Given the description of an element on the screen output the (x, y) to click on. 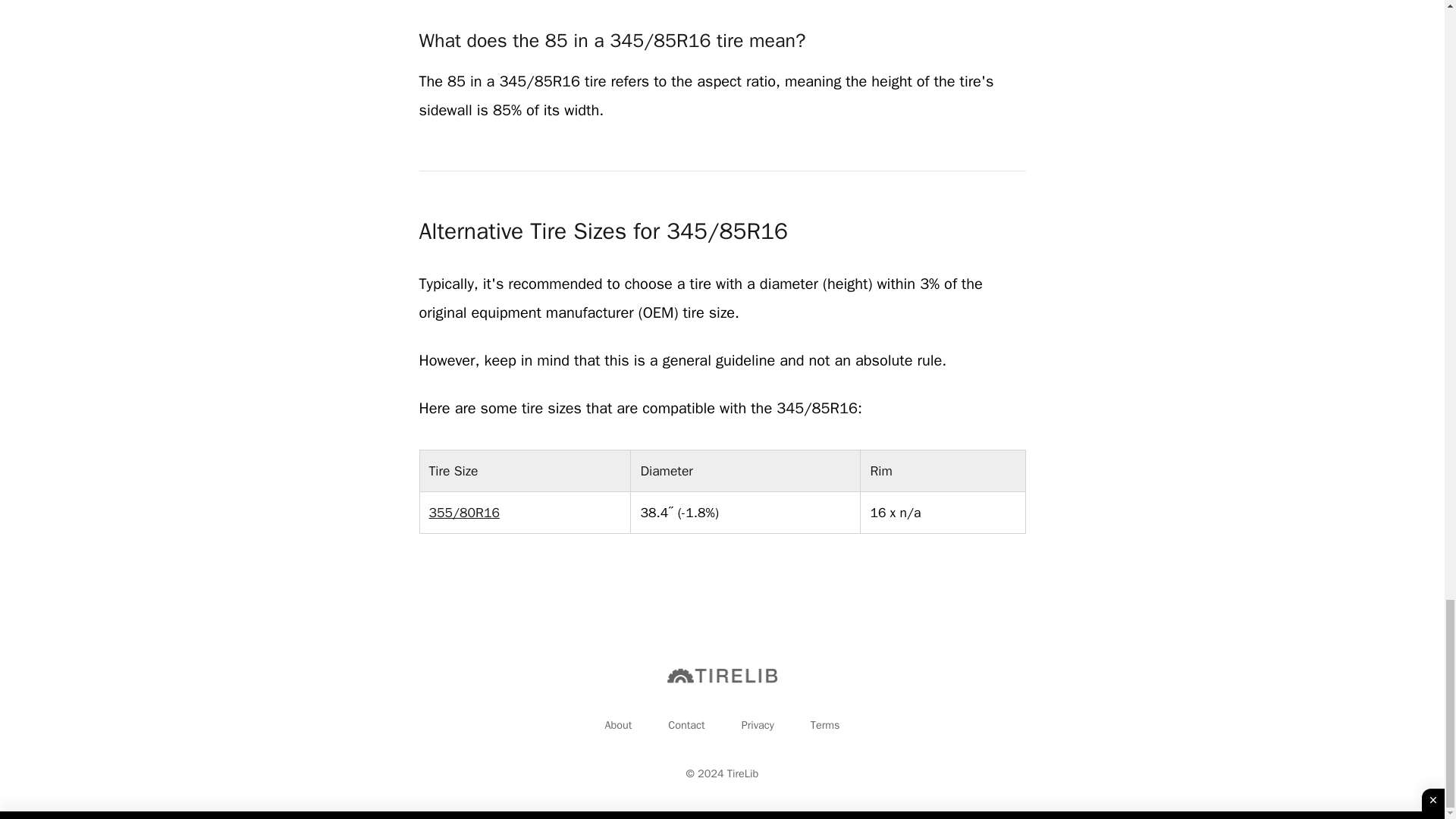
Terms (825, 724)
TireLib (742, 773)
Privacy (757, 724)
Contact (686, 724)
About (617, 724)
